Given the description of an element on the screen output the (x, y) to click on. 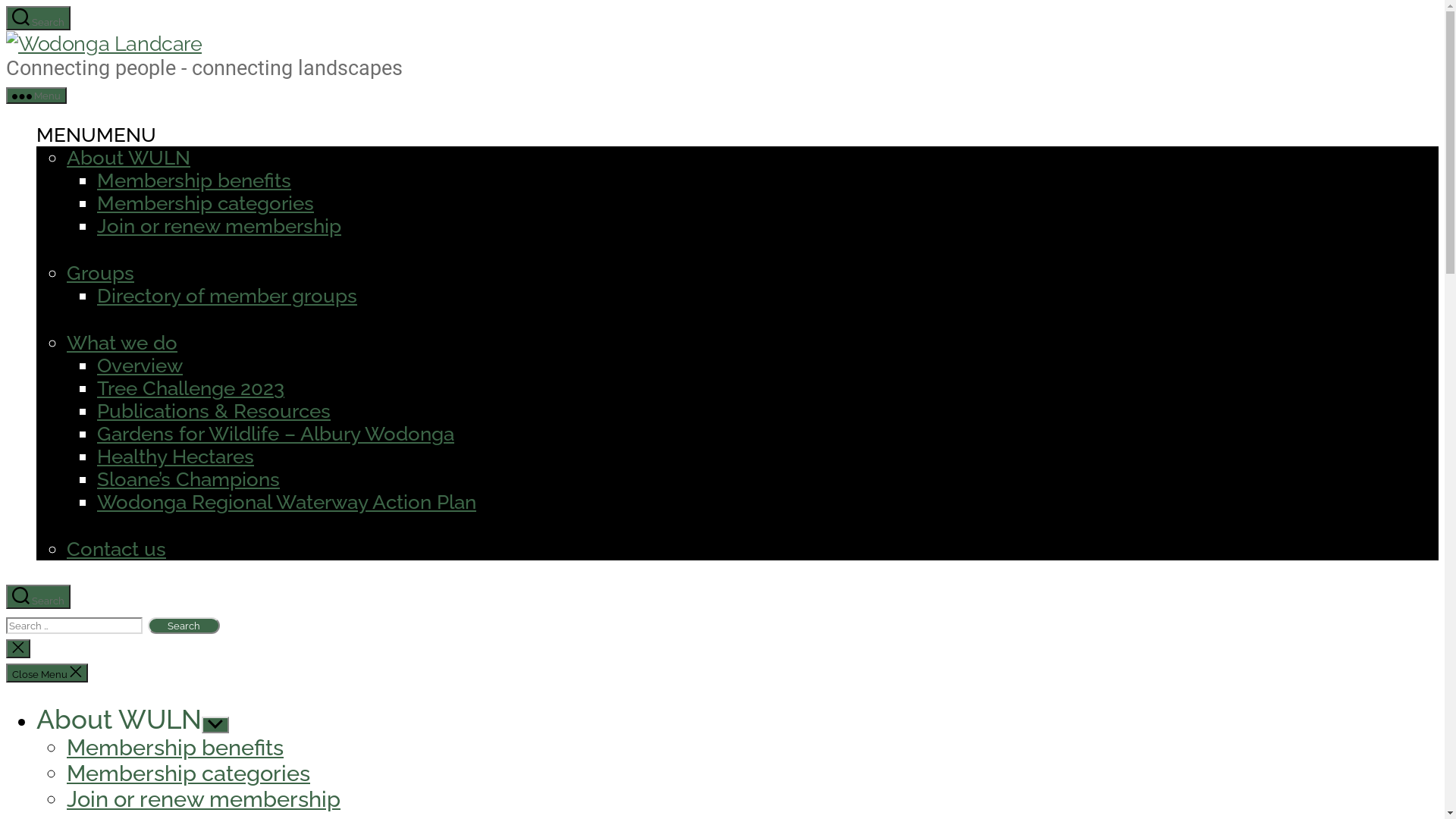
Join or renew membership Element type: text (203, 799)
Tree Challenge 2023 Element type: text (190, 387)
Show sub menu Element type: text (215, 724)
Healthy Hectares Element type: text (175, 456)
Membership benefits Element type: text (194, 180)
What we do Element type: text (121, 342)
Close search Element type: text (18, 648)
Close Menu Element type: text (46, 672)
Search Element type: text (183, 625)
Membership categories Element type: text (205, 202)
Overview Element type: text (139, 365)
About WULN Element type: text (128, 157)
Wodonga Regional Waterway Action Plan Element type: text (286, 501)
Membership benefits Element type: text (174, 747)
Directory of member groups Element type: text (227, 295)
Menu Element type: text (36, 95)
About WULN Element type: text (118, 718)
Publications & Resources Element type: text (213, 410)
Contact us Element type: text (116, 548)
Search Element type: text (38, 18)
Join or renew membership Element type: text (219, 225)
Groups Element type: text (100, 272)
Skip to the content Element type: text (5, 5)
Search Element type: text (38, 596)
Membership categories Element type: text (188, 773)
